Given the description of an element on the screen output the (x, y) to click on. 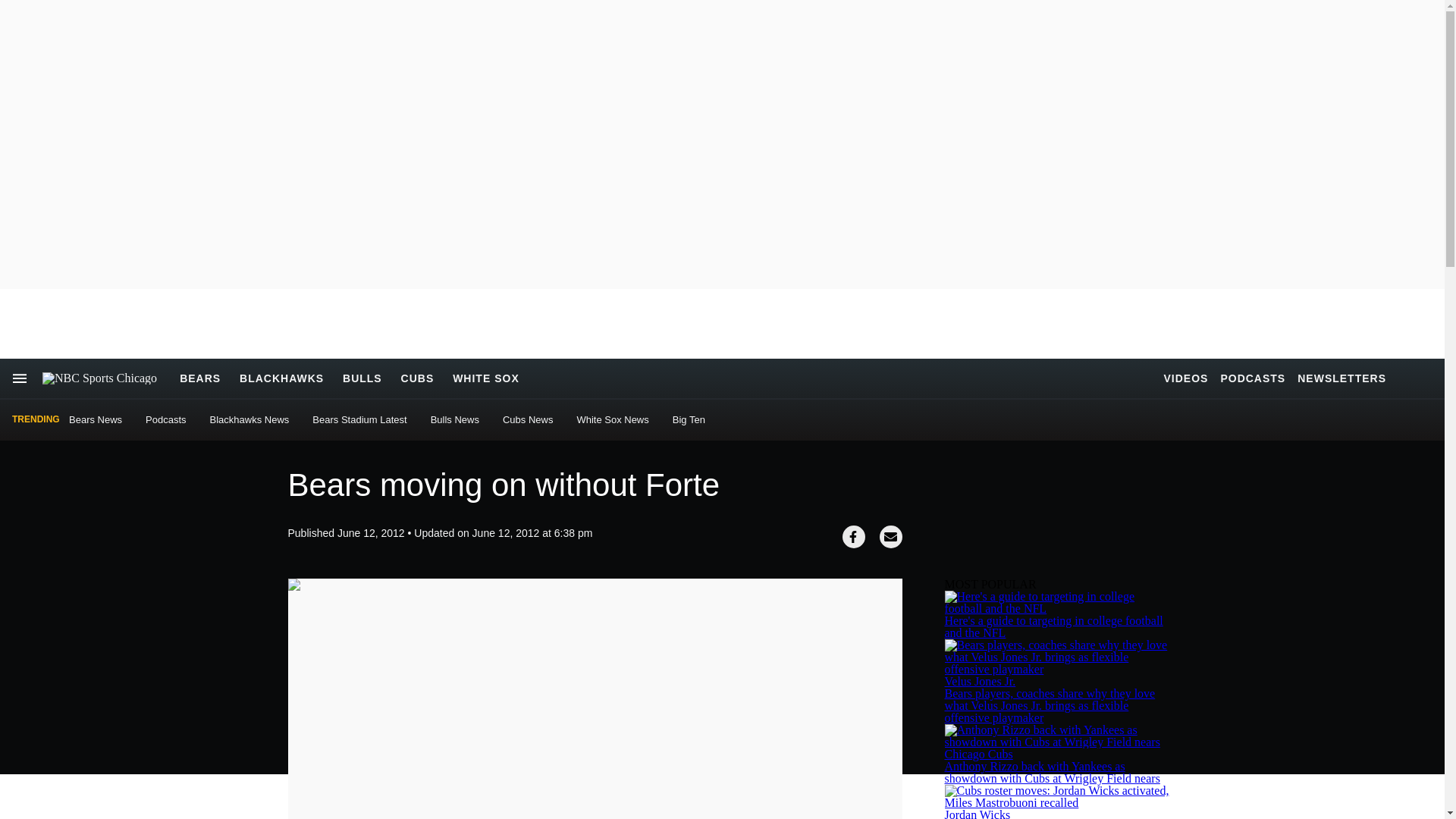
NEWSLETTERS (1341, 378)
WHITE SOX (485, 378)
PODCASTS (1252, 378)
Big Ten (688, 419)
Here's a guide to targeting in college football and the NFL (1053, 626)
Bulls News (454, 419)
Podcasts (165, 419)
Bears Stadium Latest (359, 419)
Cubs News (527, 419)
